Given the description of an element on the screen output the (x, y) to click on. 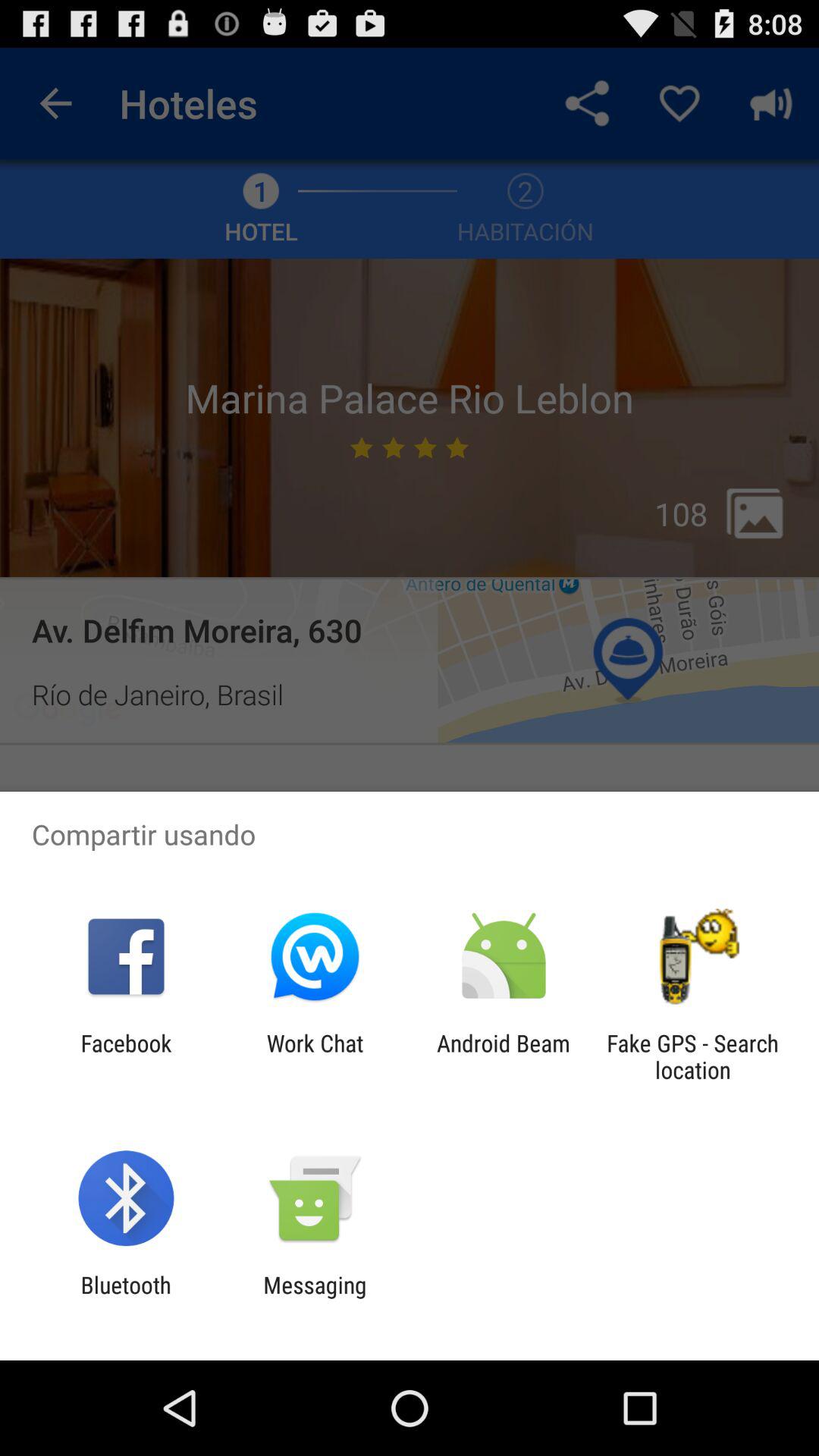
scroll until messaging item (314, 1298)
